Given the description of an element on the screen output the (x, y) to click on. 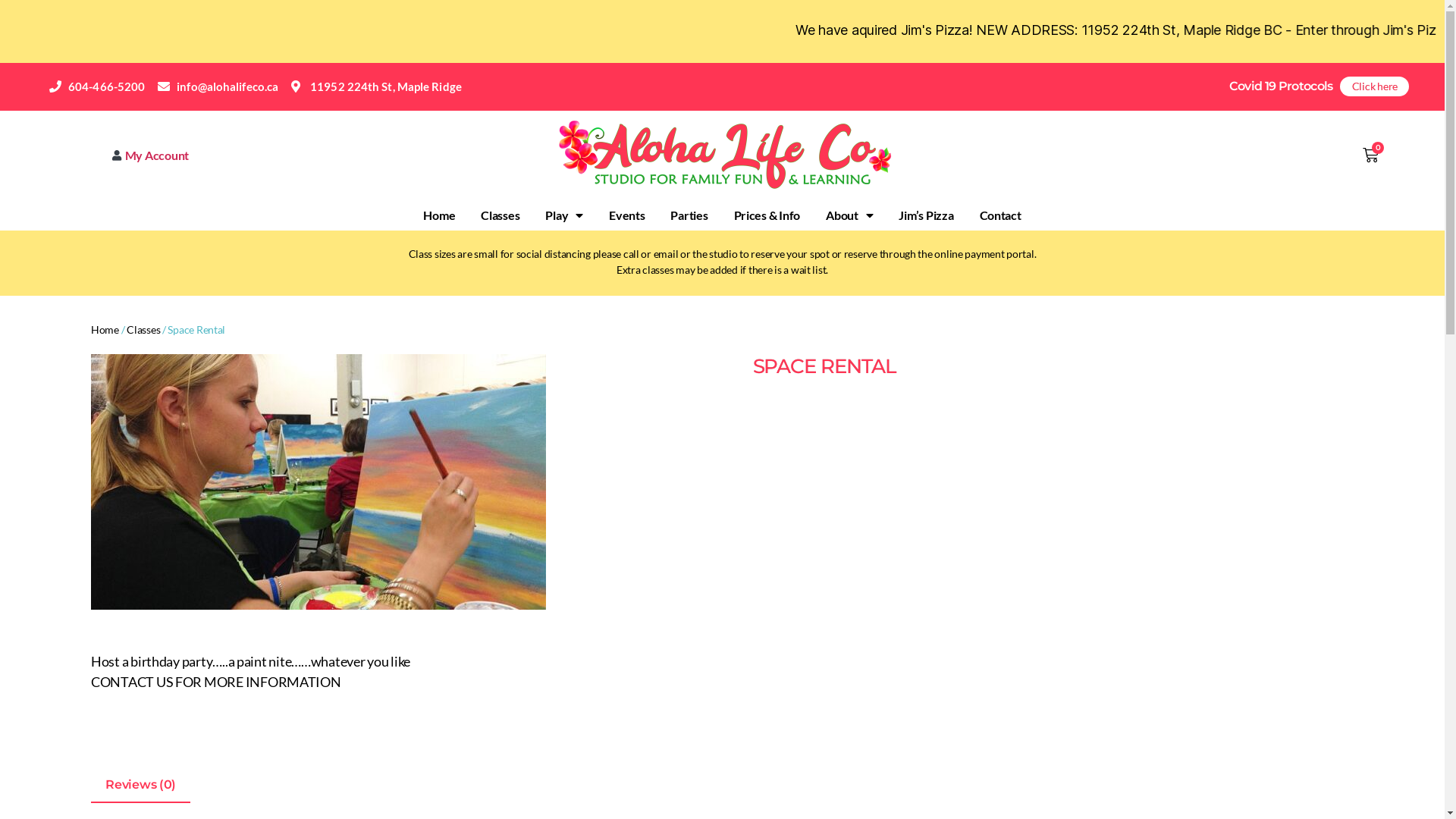
Click here Element type: text (1373, 86)
Home Element type: text (438, 215)
11952 224th St, Maple Ridge Element type: text (376, 86)
604-466-5200 Element type: text (96, 86)
Classes Element type: text (499, 215)
Classes Element type: text (143, 329)
Prices & Info Element type: text (767, 215)
Home Element type: text (105, 329)
info@alohalifeco.ca Element type: text (217, 86)
My Account Element type: text (112, 155)
Play Element type: text (564, 215)
Contact Element type: text (999, 215)
Events Element type: text (626, 215)
About Element type: text (848, 215)
Parties Element type: text (688, 215)
e5cfb682-be8a-4f55-97fe-6f8f22209229-Tessa_SR Element type: hover (318, 481)
Reviews (0) Element type: text (140, 784)
